Given the description of an element on the screen output the (x, y) to click on. 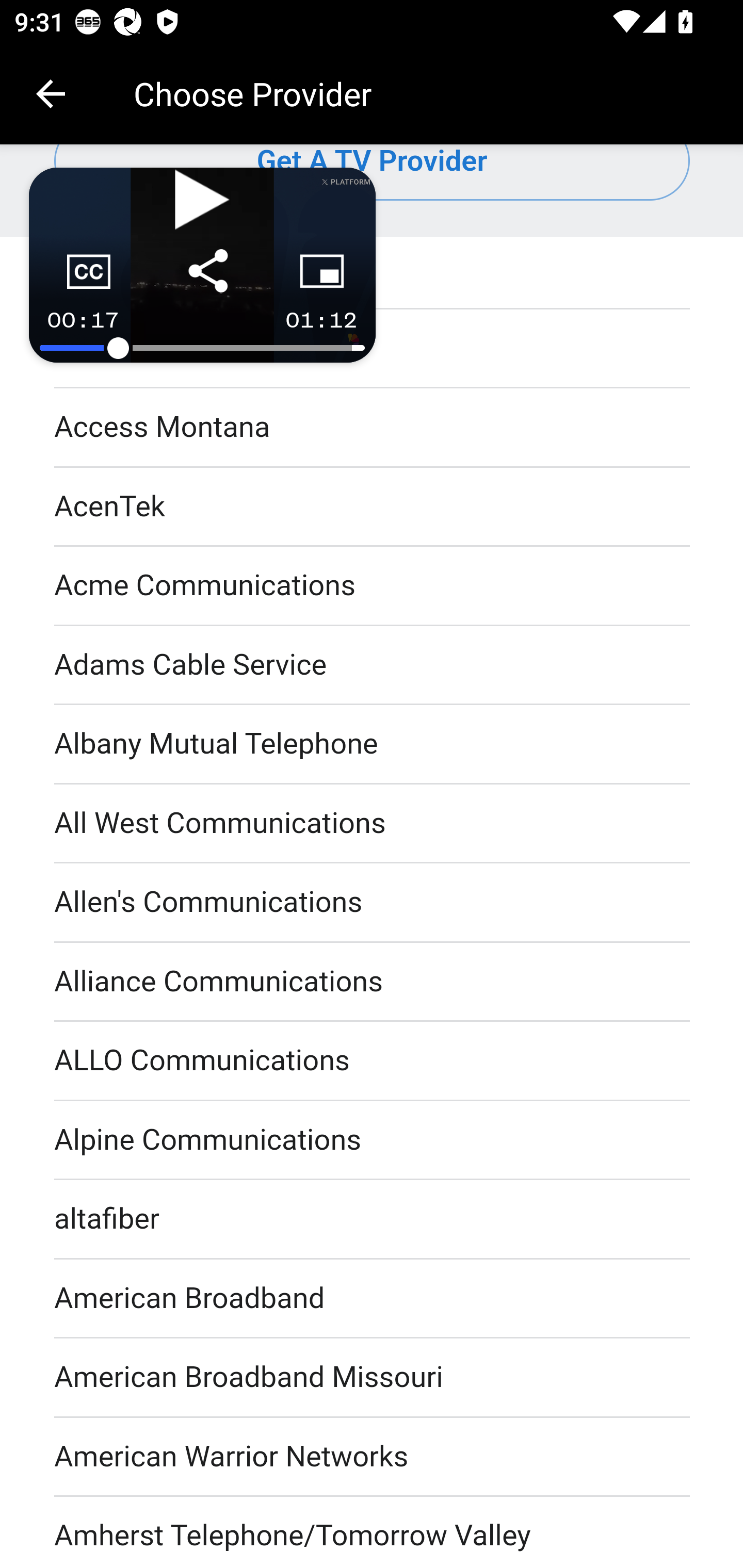
Navigate up (50, 93)
Access Montana (372, 427)
AcenTek (372, 507)
Acme Communications (372, 587)
Adams Cable Service (372, 666)
Albany Mutual Telephone (372, 746)
All West Communications (372, 825)
Allen's Communications (372, 902)
Alliance Communications (372, 982)
ALLO Communications (372, 1062)
Alpine Communications (372, 1141)
altafiber (372, 1221)
American Broadband (372, 1300)
American Broadband Missouri (372, 1379)
American Warrior Networks (372, 1458)
Amherst Telephone/Tomorrow Valley (372, 1531)
